Given the description of an element on the screen output the (x, y) to click on. 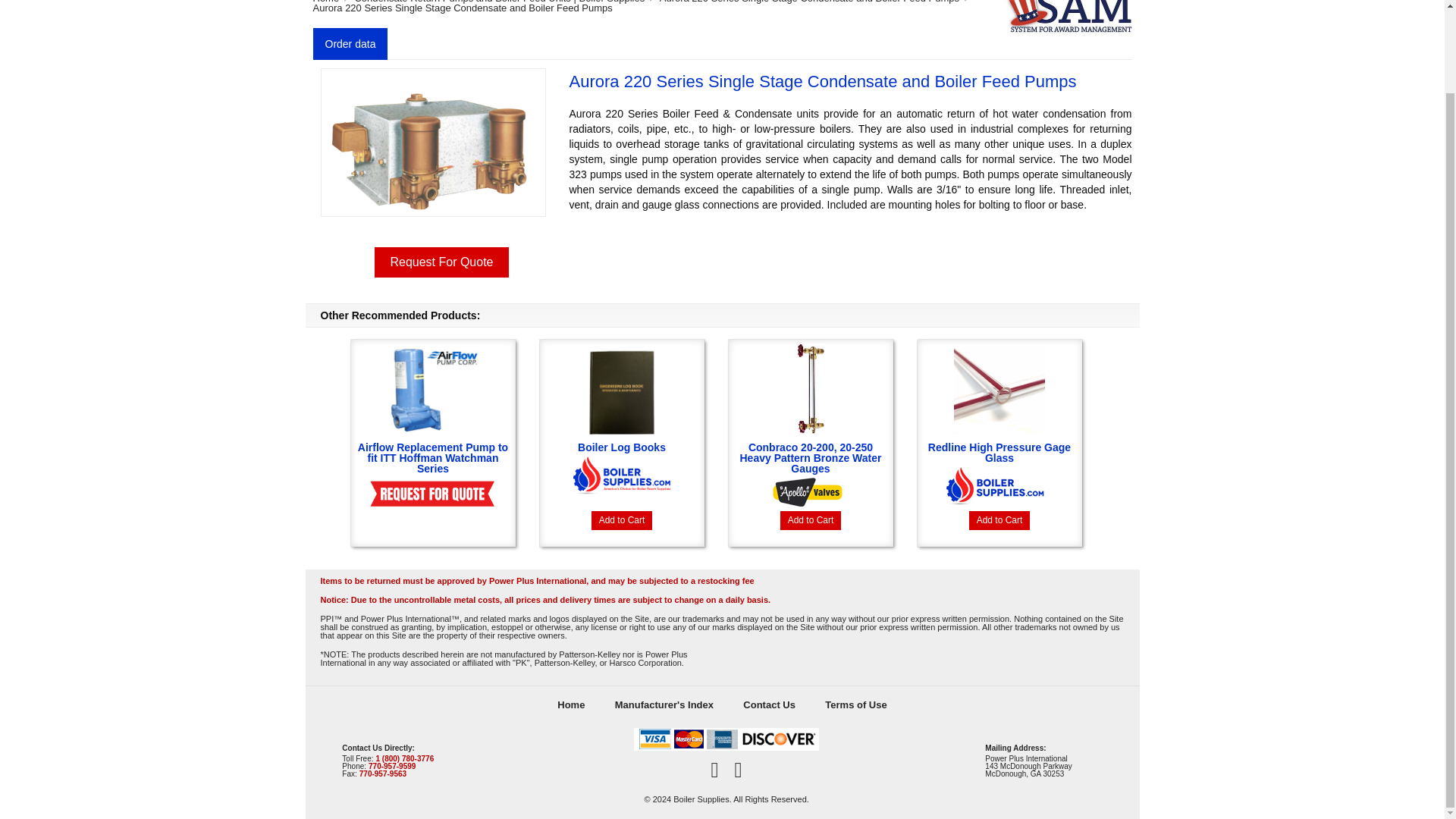
Order data (350, 43)
Redline High Pressure Gage Glass (999, 422)
Add to Cart (810, 520)
Add to Cart (621, 520)
Conbraco 20-200, 20-250 Heavy Pattern Bronze Water Gauges (810, 427)
Add to Cart (999, 520)
Home (570, 704)
Home (326, 2)
Boiler Log Books (622, 416)
Request For Quote (441, 262)
Airflow Replacement Pump to fit ITT Hoffman Watchman Series (432, 427)
